Given the description of an element on the screen output the (x, y) to click on. 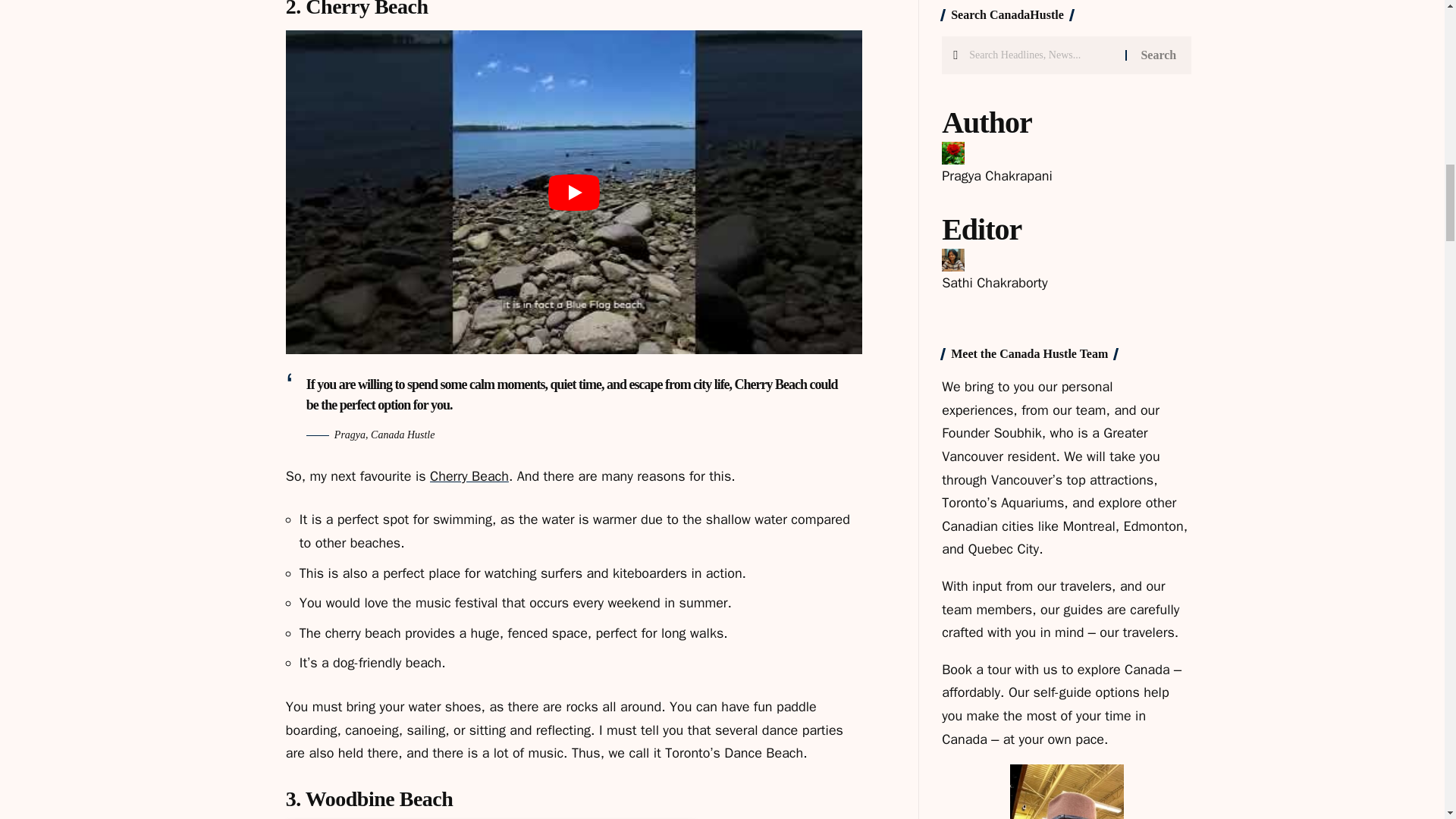
Things to Explore During Your Robson Street Tour (979, 45)
